Given the description of an element on the screen output the (x, y) to click on. 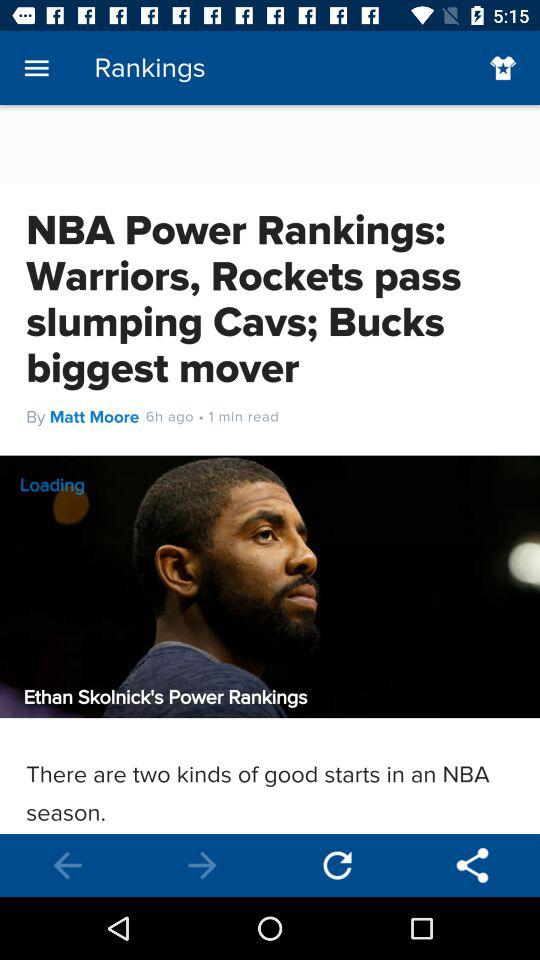
go back (67, 865)
